Given the description of an element on the screen output the (x, y) to click on. 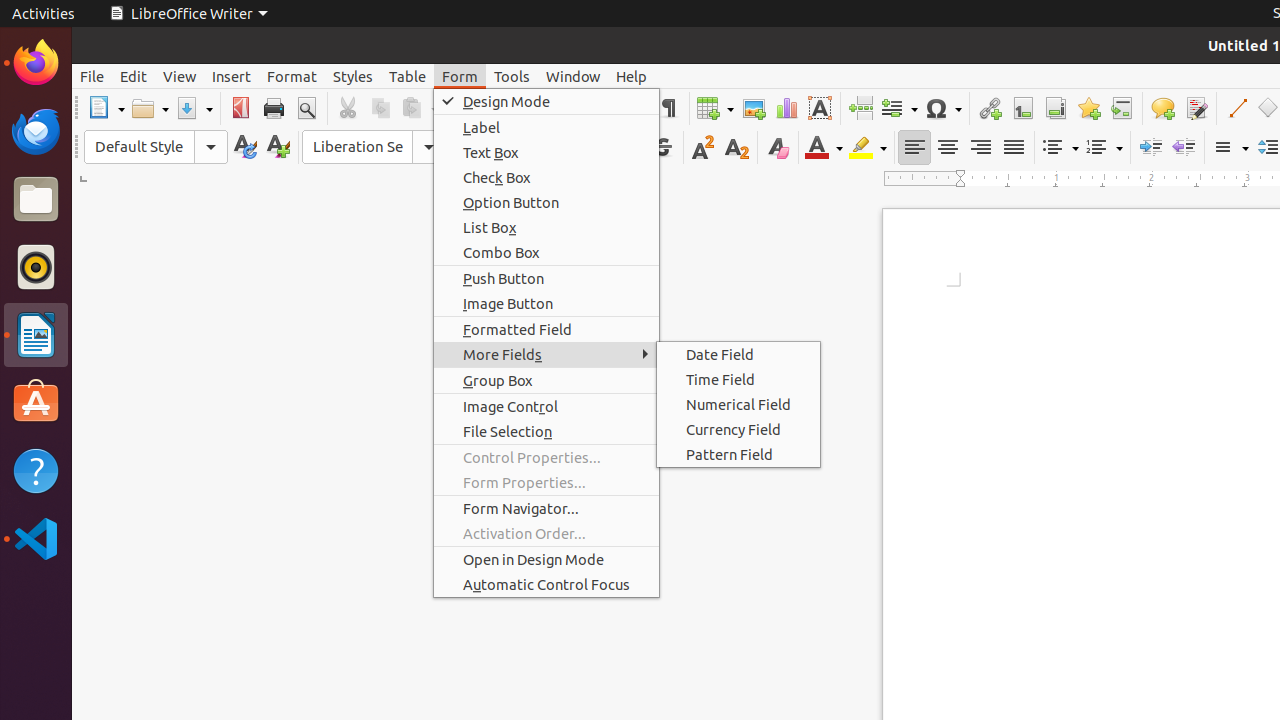
Page Break Element type: push-button (860, 108)
Save Element type: push-button (194, 108)
Text Box Element type: check-menu-item (546, 152)
Help Element type: menu (631, 76)
New Element type: push-button (277, 147)
